Given the description of an element on the screen output the (x, y) to click on. 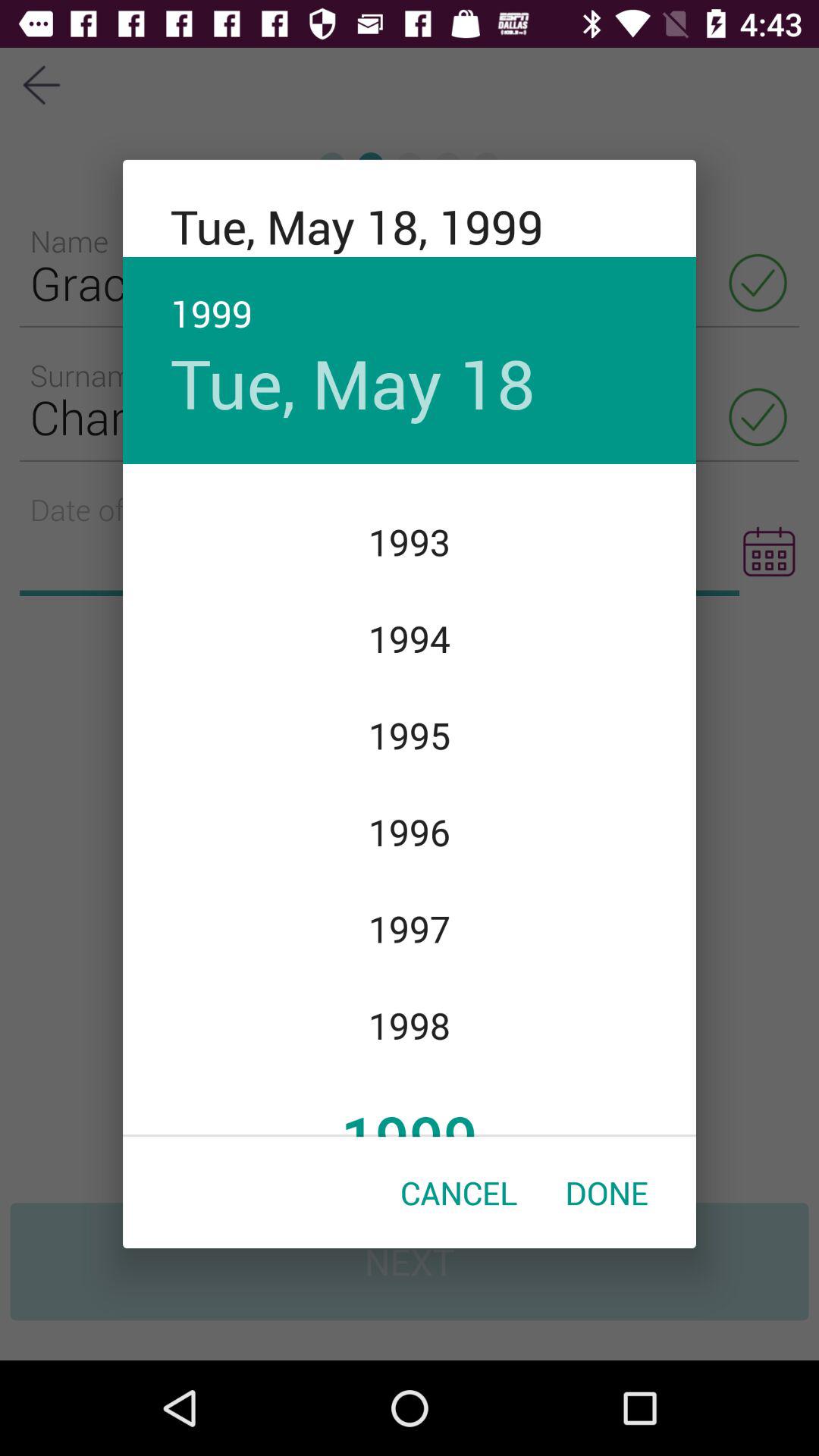
turn on the icon below the 1999 item (606, 1192)
